Given the description of an element on the screen output the (x, y) to click on. 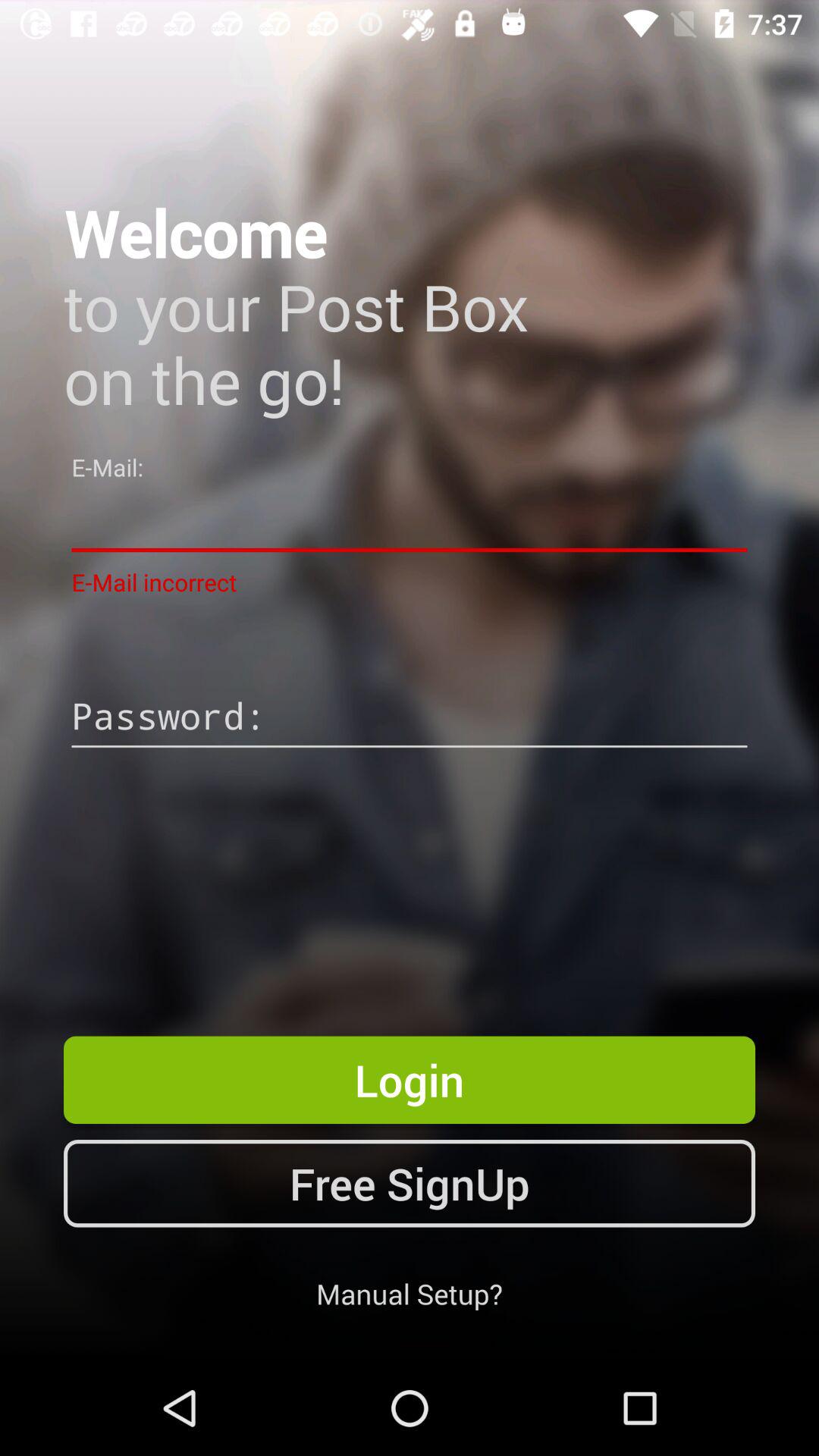
turn on the free signup icon (409, 1183)
